Given the description of an element on the screen output the (x, y) to click on. 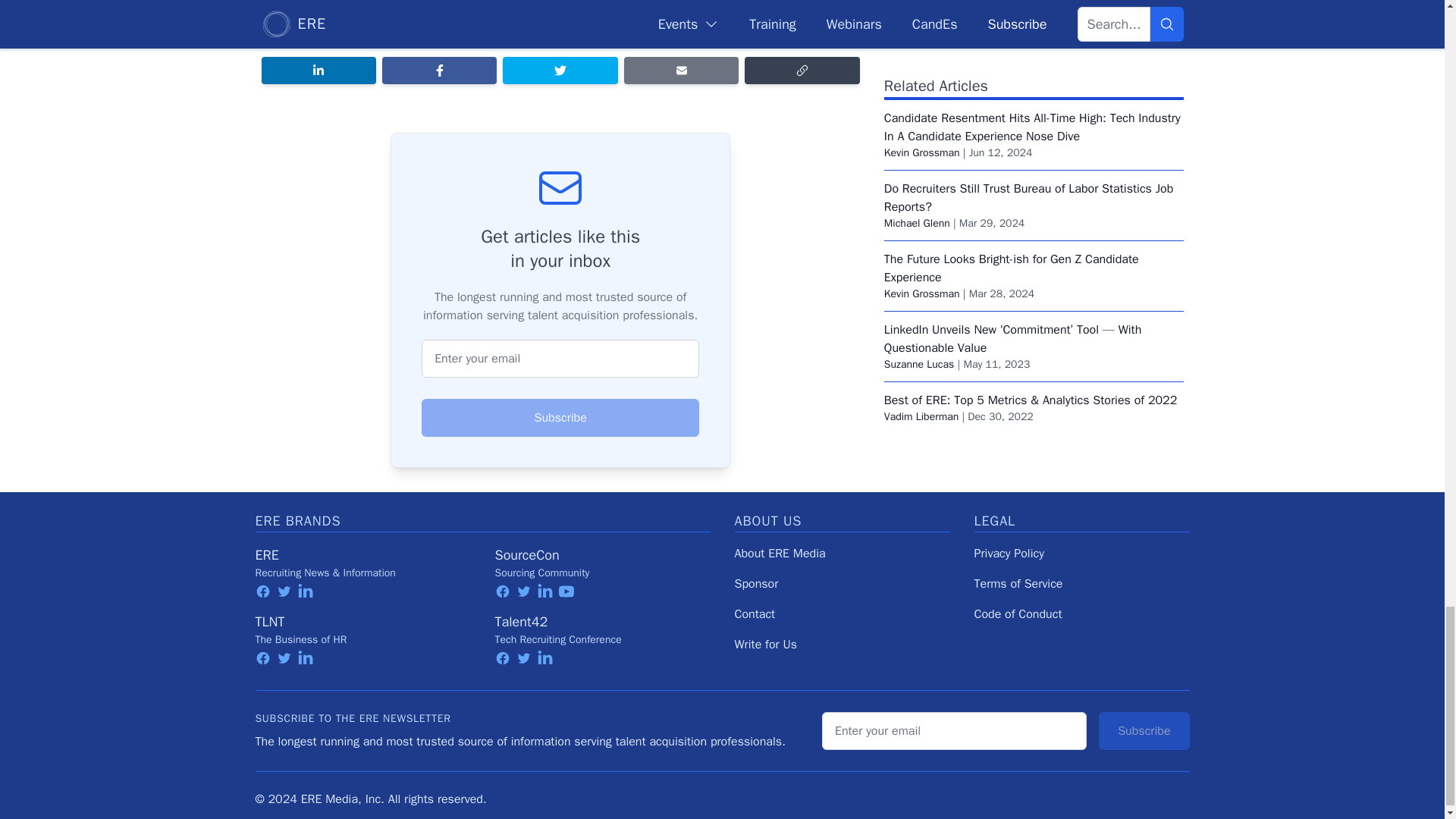
Vadim Liberman (920, 21)
Subscribe (560, 417)
linkedin (305, 590)
TLNT (268, 621)
twitter (283, 590)
facebook (261, 590)
ERE (266, 555)
facebook (261, 657)
